Given the description of an element on the screen output the (x, y) to click on. 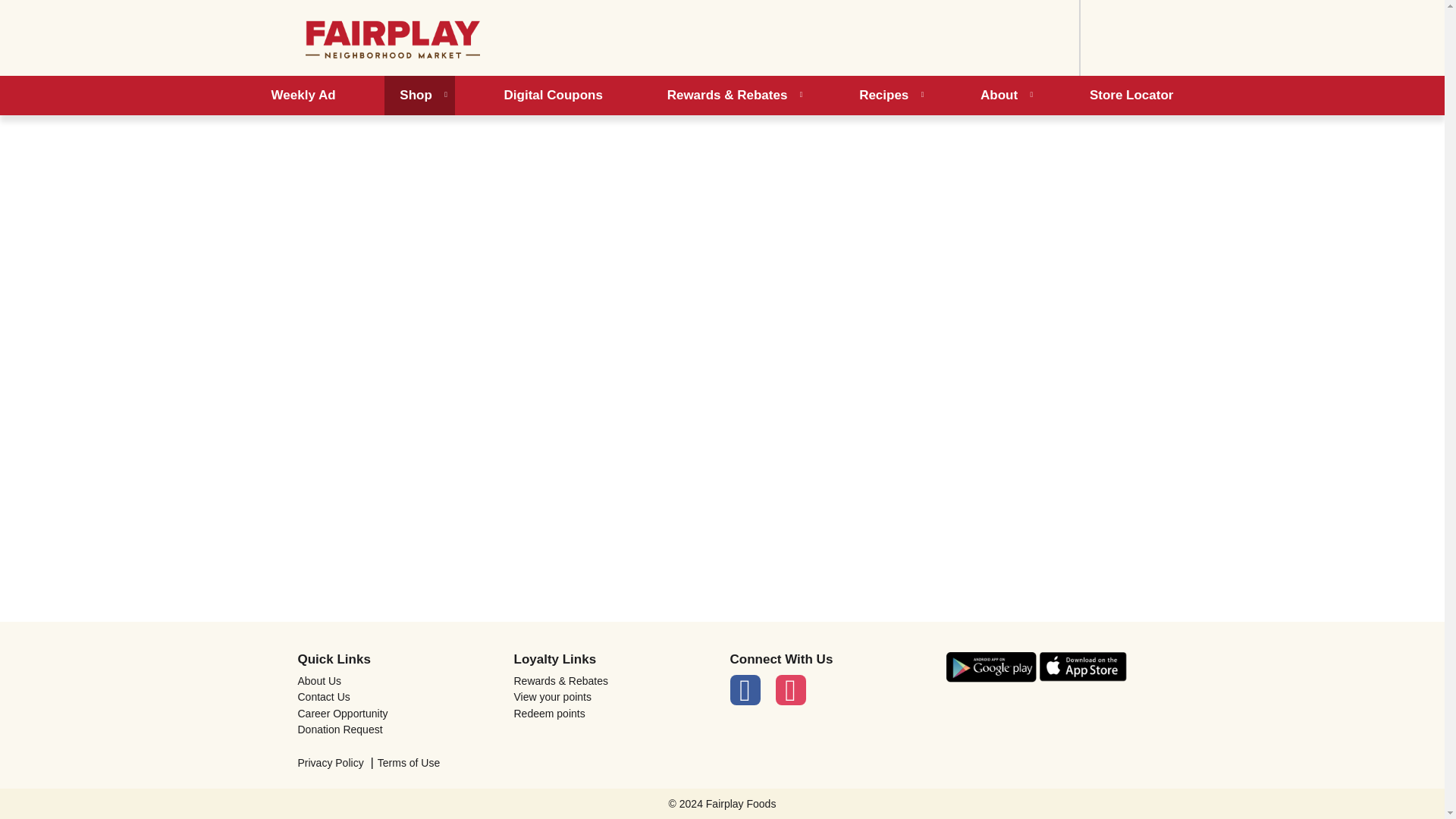
Digital Coupons (553, 95)
instagram (789, 689)
Contact Us (397, 696)
Recipes (887, 95)
Career Opportunity (397, 713)
Shop (419, 95)
Weekly Ad (303, 95)
Donation Request (397, 729)
Facebook (744, 689)
About Us (397, 680)
